Given the description of an element on the screen output the (x, y) to click on. 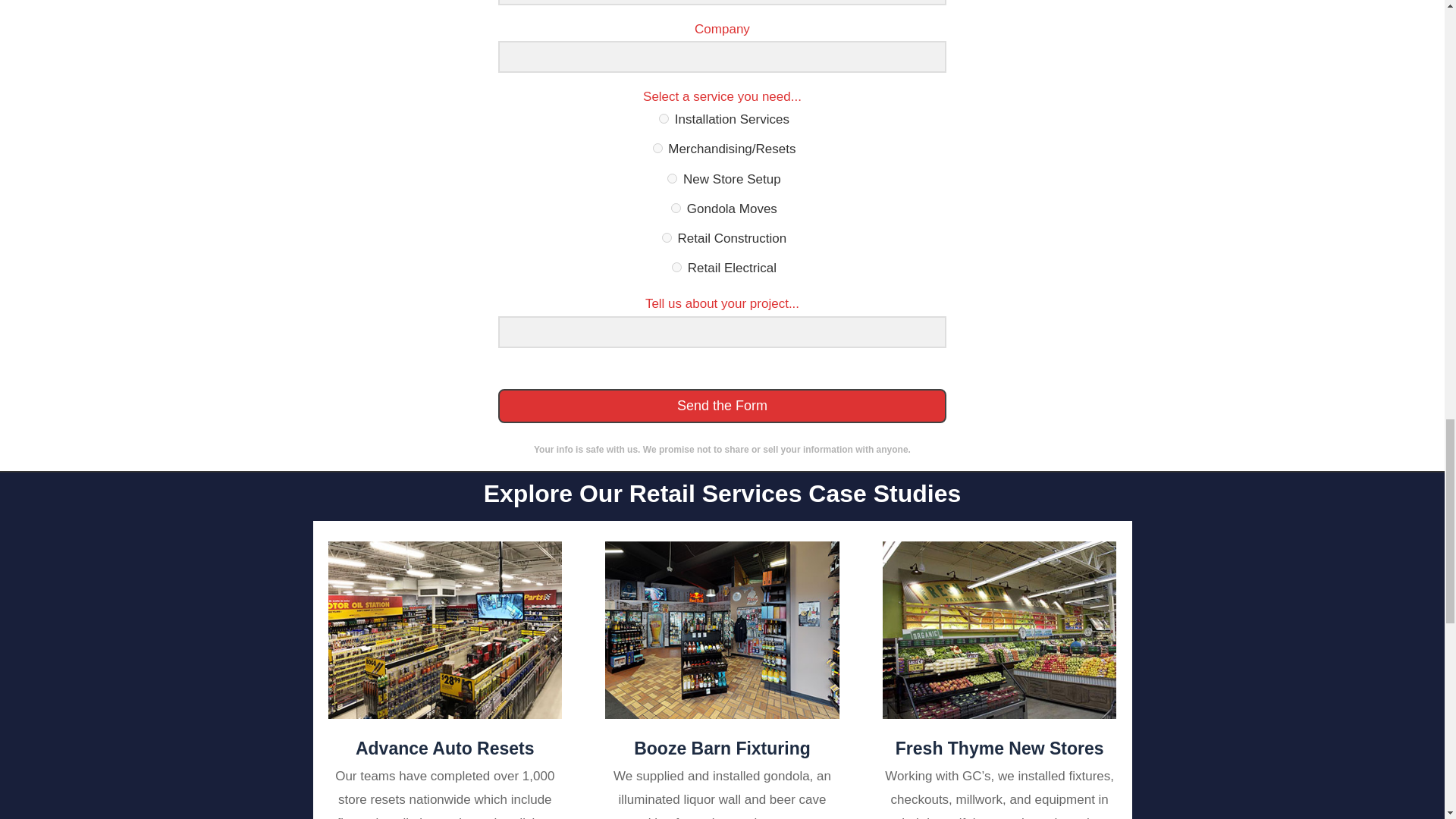
Retail Construction (666, 237)
Retail Store Shelving (999, 629)
Retail Electrical (676, 266)
Store Displays (444, 629)
Gondola Moves (676, 207)
Store Shelving (722, 629)
New Store Setup (671, 178)
Installation Services (663, 118)
